Given the description of an element on the screen output the (x, y) to click on. 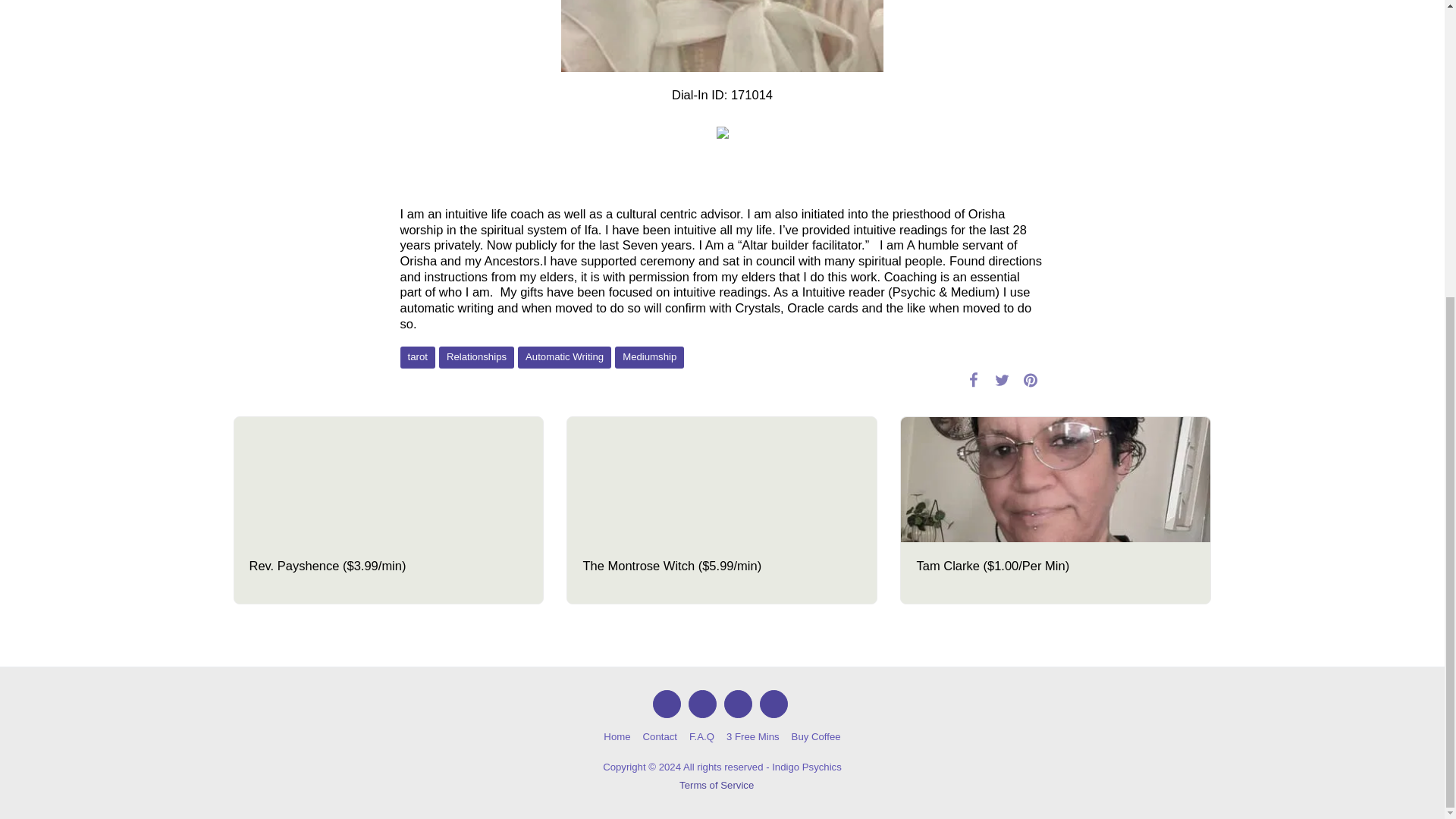
Contact (660, 736)
Tweet (1002, 379)
tarot (417, 357)
Relationships (476, 357)
Pin it (1029, 379)
F.A.Q (701, 736)
Share on Facebook (973, 379)
